Given the description of an element on the screen output the (x, y) to click on. 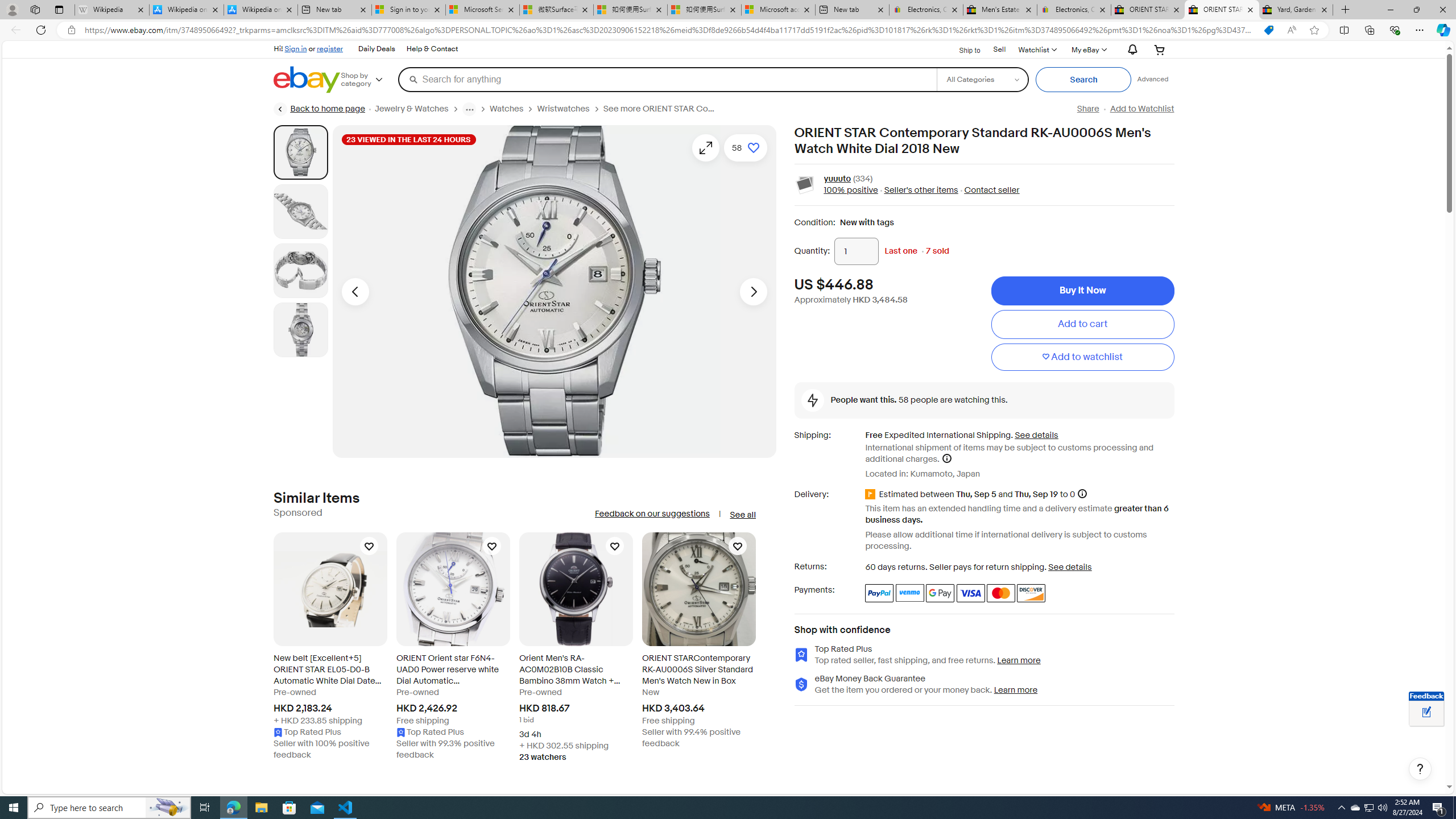
Shop by category (368, 79)
Picture 1 of 4 (300, 152)
See details - for more information about returns (1070, 566)
Contact seller (991, 190)
Add to watchlist (1082, 357)
Select a category for search (981, 78)
Wristwatches (563, 108)
WatchlistExpand Watch List (1036, 49)
Add to watchlist (1082, 357)
Class: ux-action (804, 184)
